Given the description of an element on the screen output the (x, y) to click on. 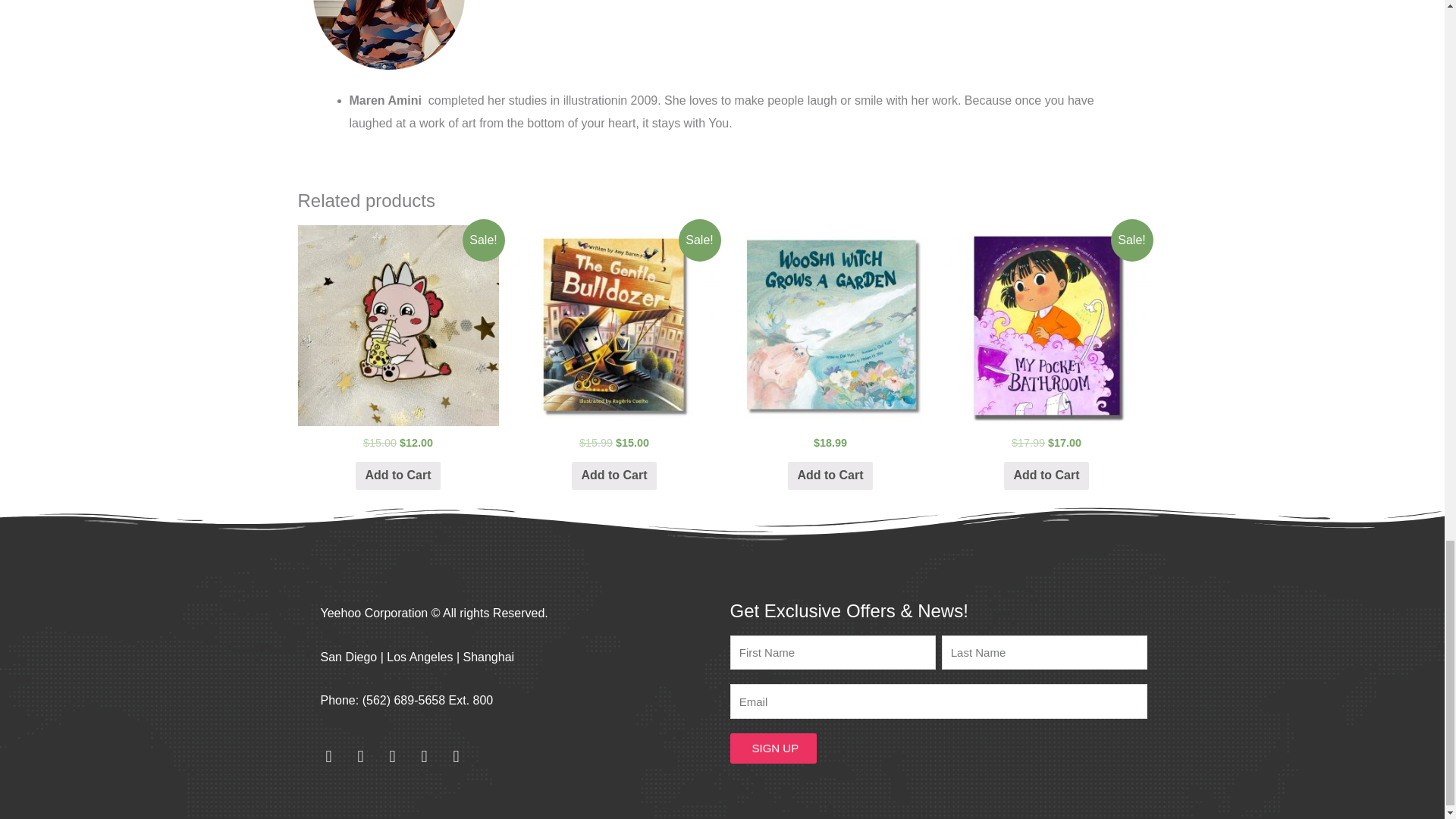
Add to Cart (397, 475)
Add to Cart (614, 475)
